Given the description of an element on the screen output the (x, y) to click on. 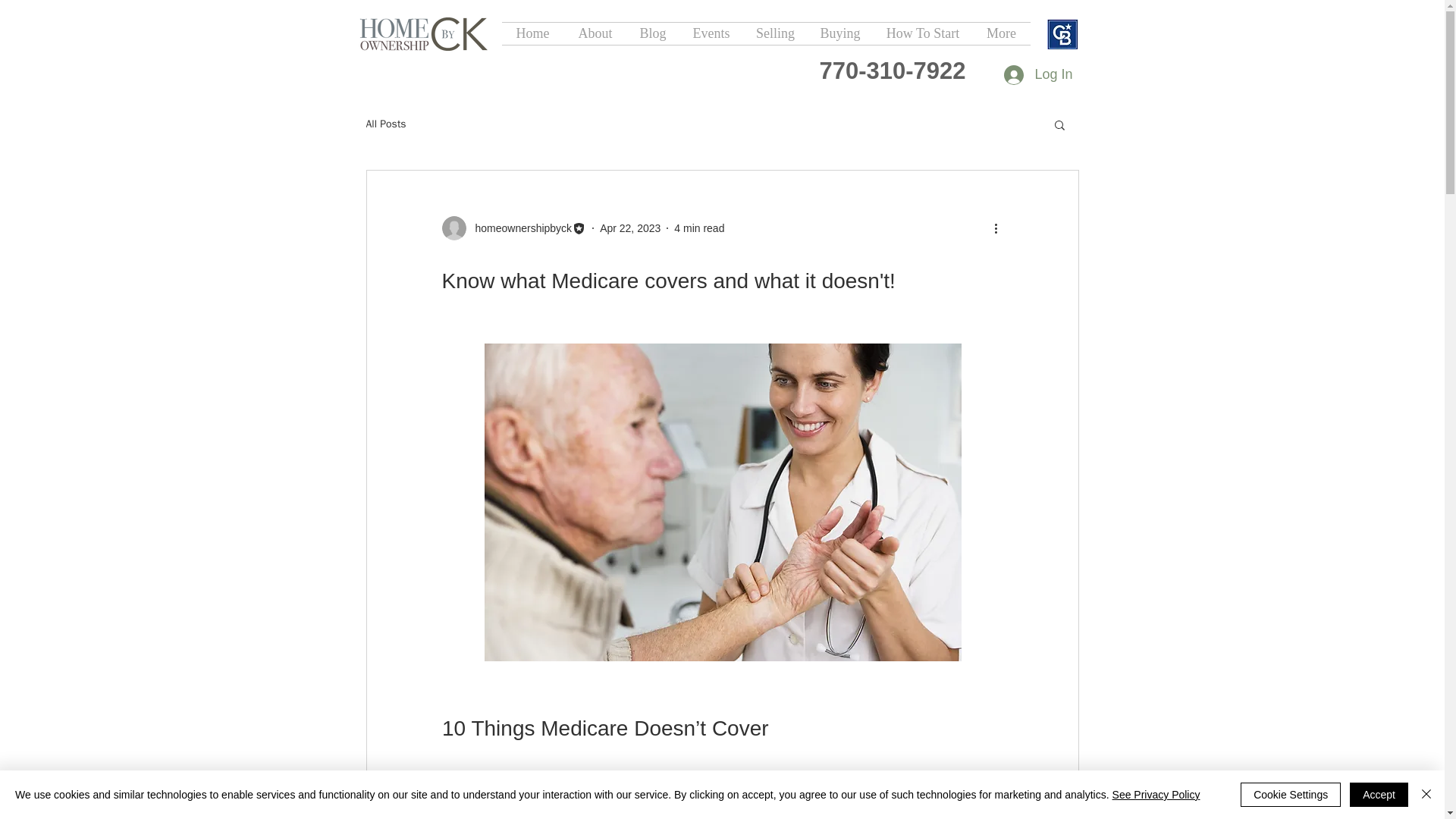
homeownershipbyck (518, 227)
All Posts (385, 124)
Home (533, 33)
Buying (839, 33)
Blog (652, 33)
homeownershipbyck (513, 228)
Selling (774, 33)
4 min read (698, 227)
Apr 22, 2023 (630, 227)
Log In (1037, 74)
How To Start (922, 33)
Events (711, 33)
About (595, 33)
770-310-7922 (891, 70)
